Given the description of an element on the screen output the (x, y) to click on. 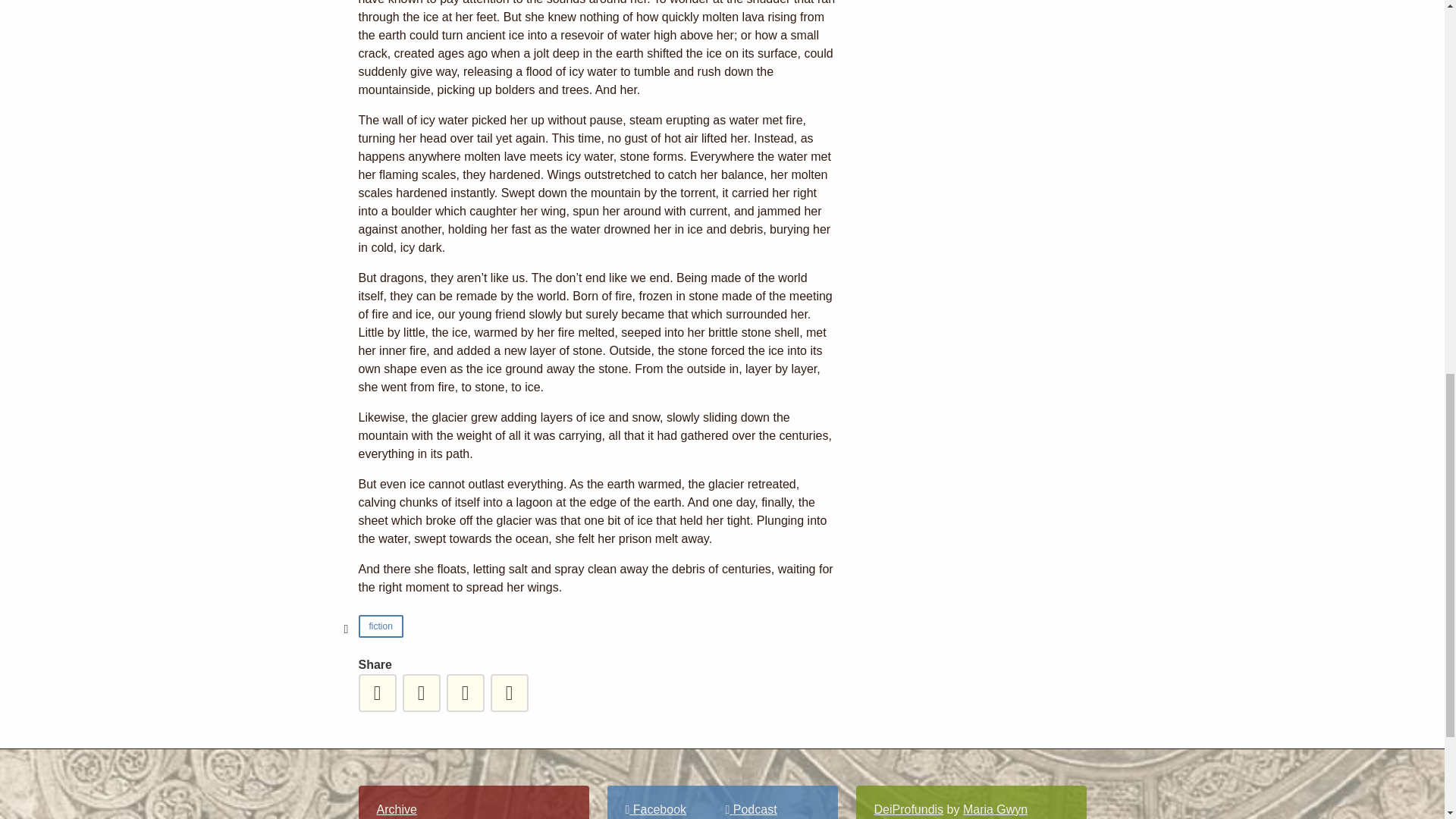
Podcast (750, 809)
Archive (395, 809)
fiction (379, 626)
Maria Gwyn McDowell (950, 811)
Facebook (654, 809)
fiction (380, 626)
DeiProfundis (908, 809)
